Given the description of an element on the screen output the (x, y) to click on. 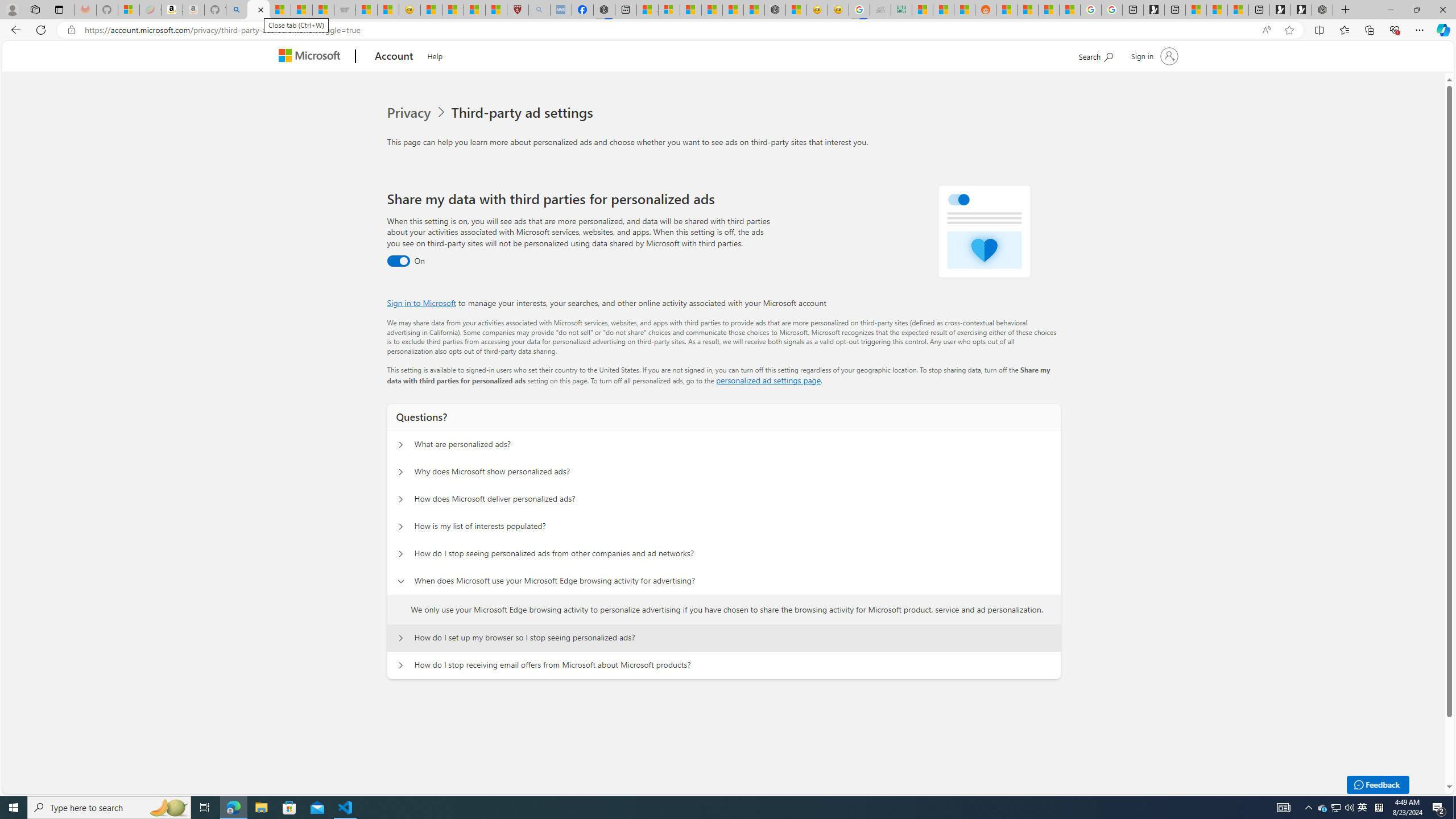
personalized ad settings page (767, 379)
Sign in to Microsoft (422, 302)
